Given the description of an element on the screen output the (x, y) to click on. 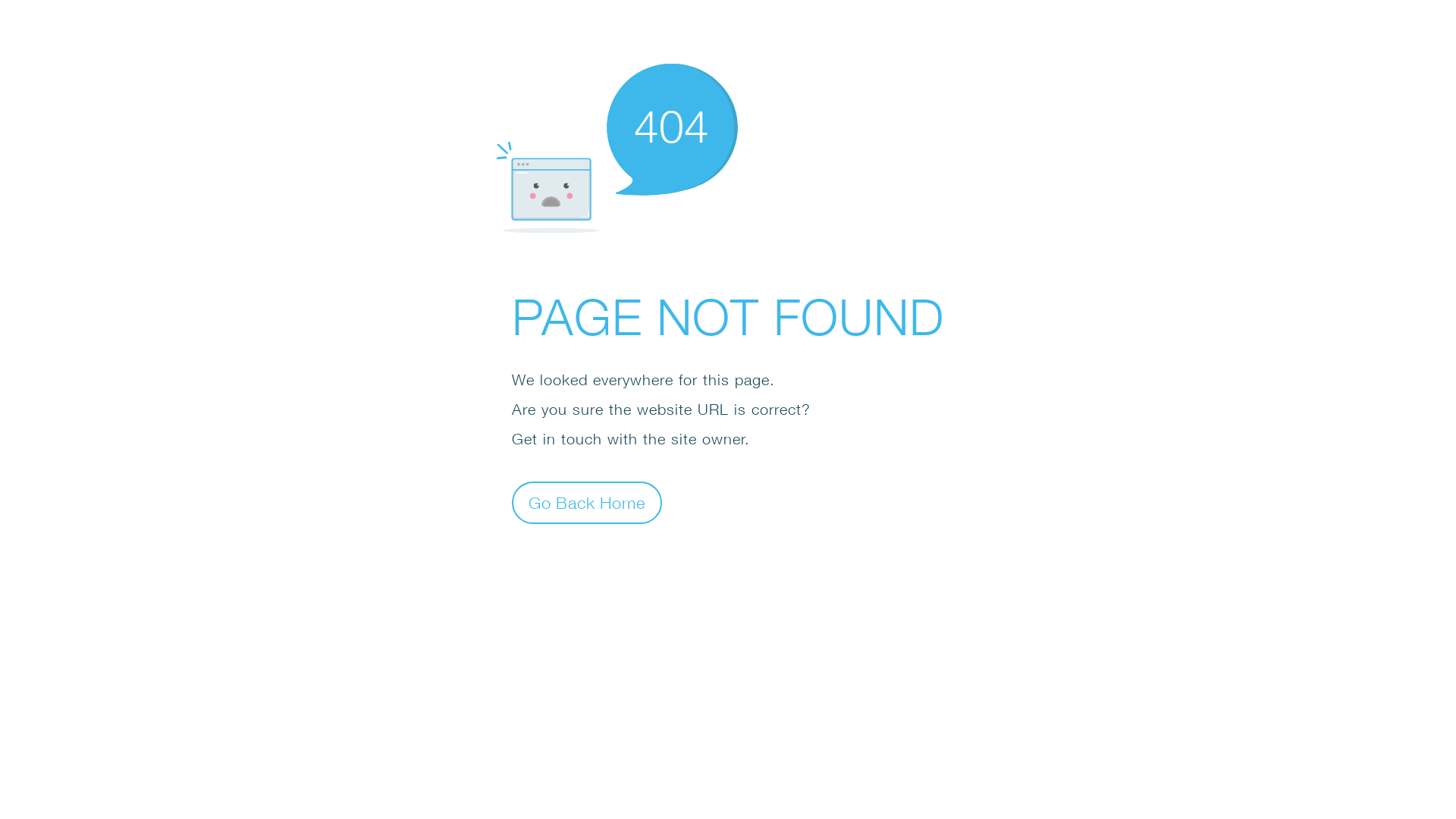
Go Back Home Element type: text (586, 502)
